Given the description of an element on the screen output the (x, y) to click on. 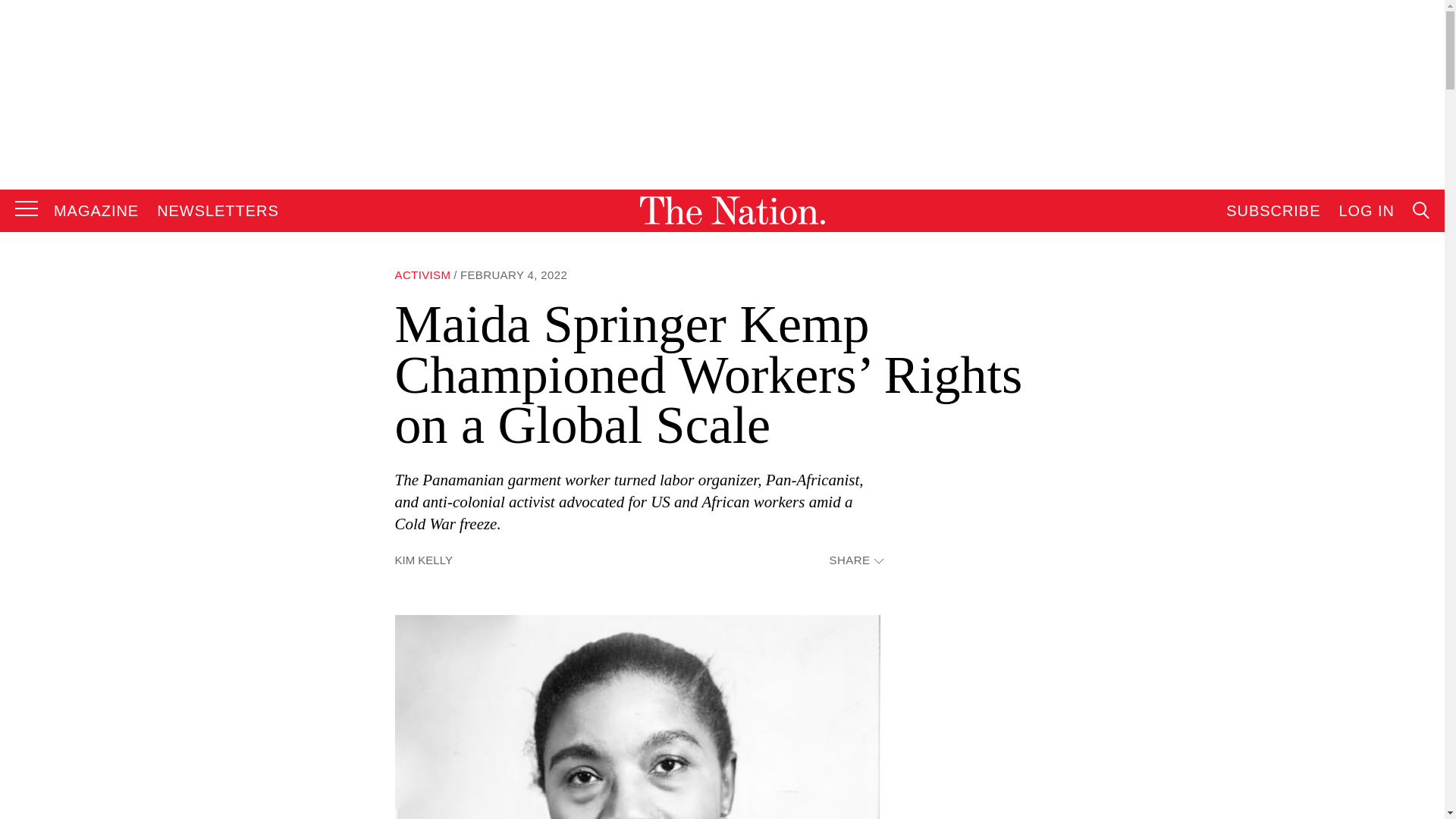
NEWSLETTERS (218, 210)
KIM KELLY (422, 559)
Search (1278, 364)
MAGAZINE (95, 210)
SUBSCRIBE (1272, 210)
maida-springer-kemp-tumblr (636, 717)
LOG IN (1366, 210)
ACTIVISM (421, 274)
SHARE (855, 560)
